Given the description of an element on the screen output the (x, y) to click on. 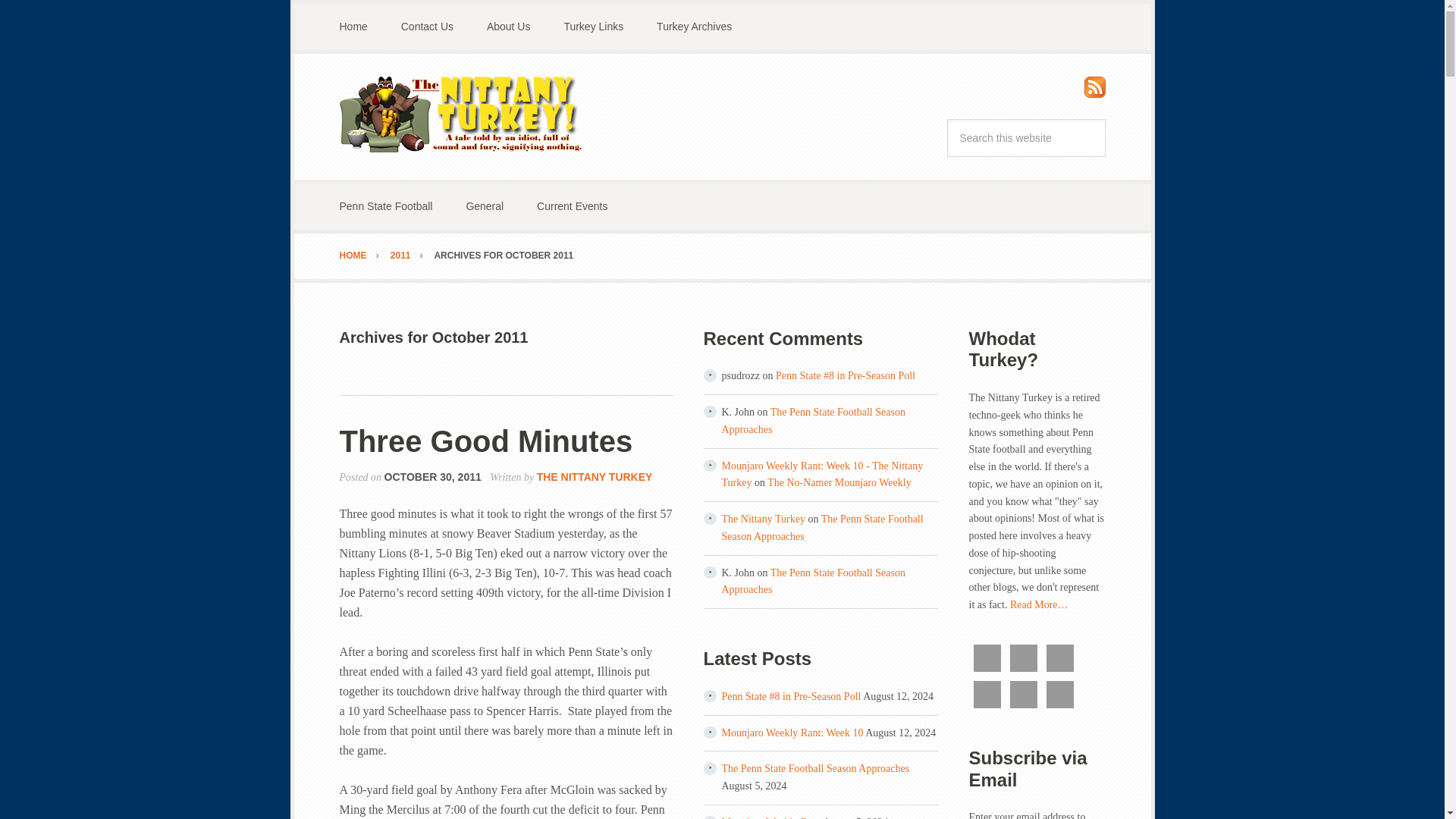
Turkey Archives (694, 26)
Contact Us (426, 26)
About Us (508, 26)
Three Good Minutes (486, 441)
2011 (411, 255)
The Nittany Turkey (460, 114)
Current Events (572, 206)
Turkey Links (593, 26)
